Given the description of an element on the screen output the (x, y) to click on. 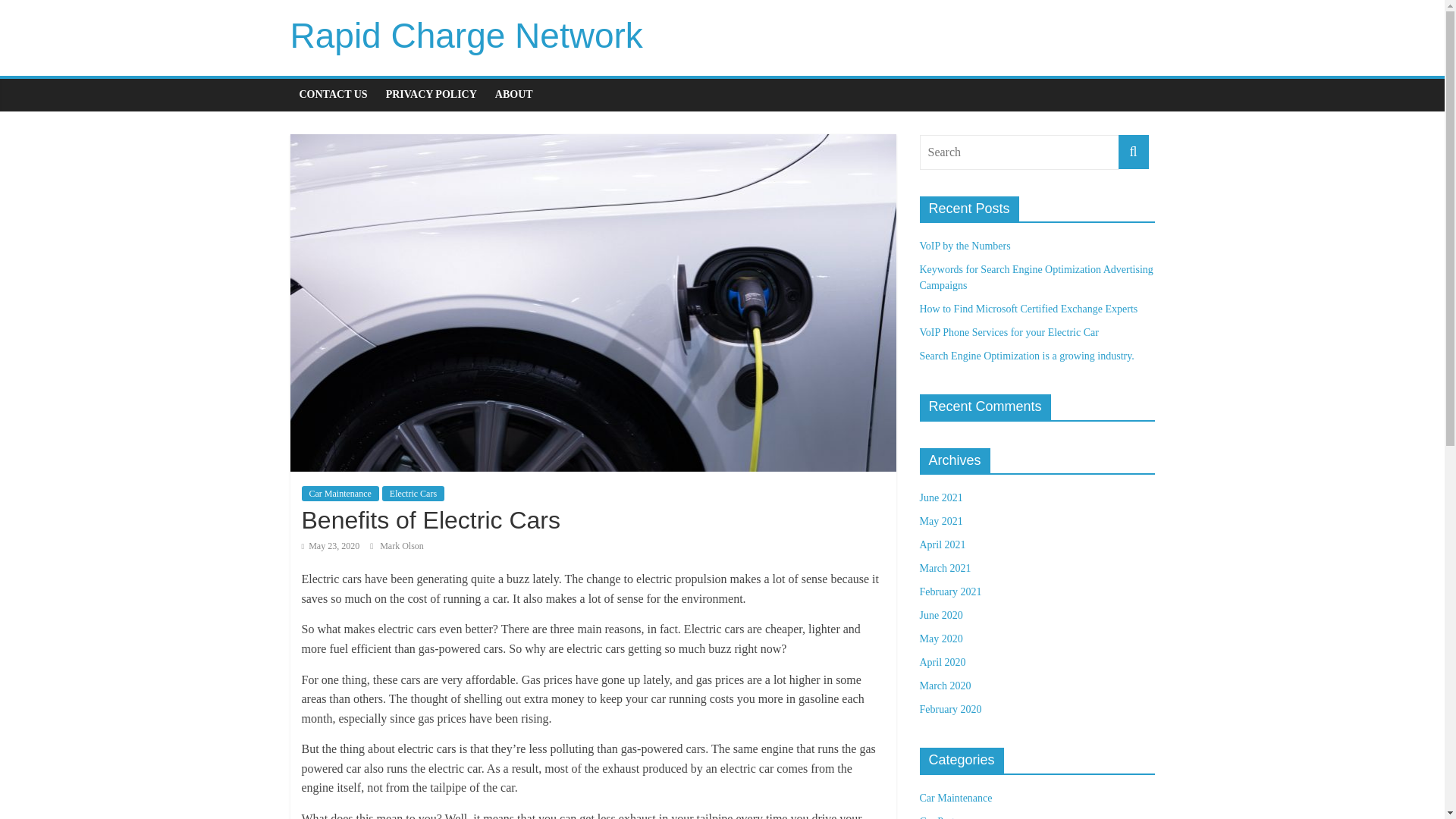
February 2020 (949, 708)
Mark Olson (401, 545)
Mark Olson (401, 545)
June 2021 (940, 497)
Car Maintenance (339, 493)
CONTACT US (332, 94)
7:38 pm (330, 545)
June 2020 (940, 614)
March 2021 (944, 568)
ABOUT (513, 94)
PRIVACY POLICY (431, 94)
May 23, 2020 (330, 545)
VoIP Phone Services for your Electric Car (1007, 332)
April 2020 (941, 662)
Electric Cars (412, 493)
